Given the description of an element on the screen output the (x, y) to click on. 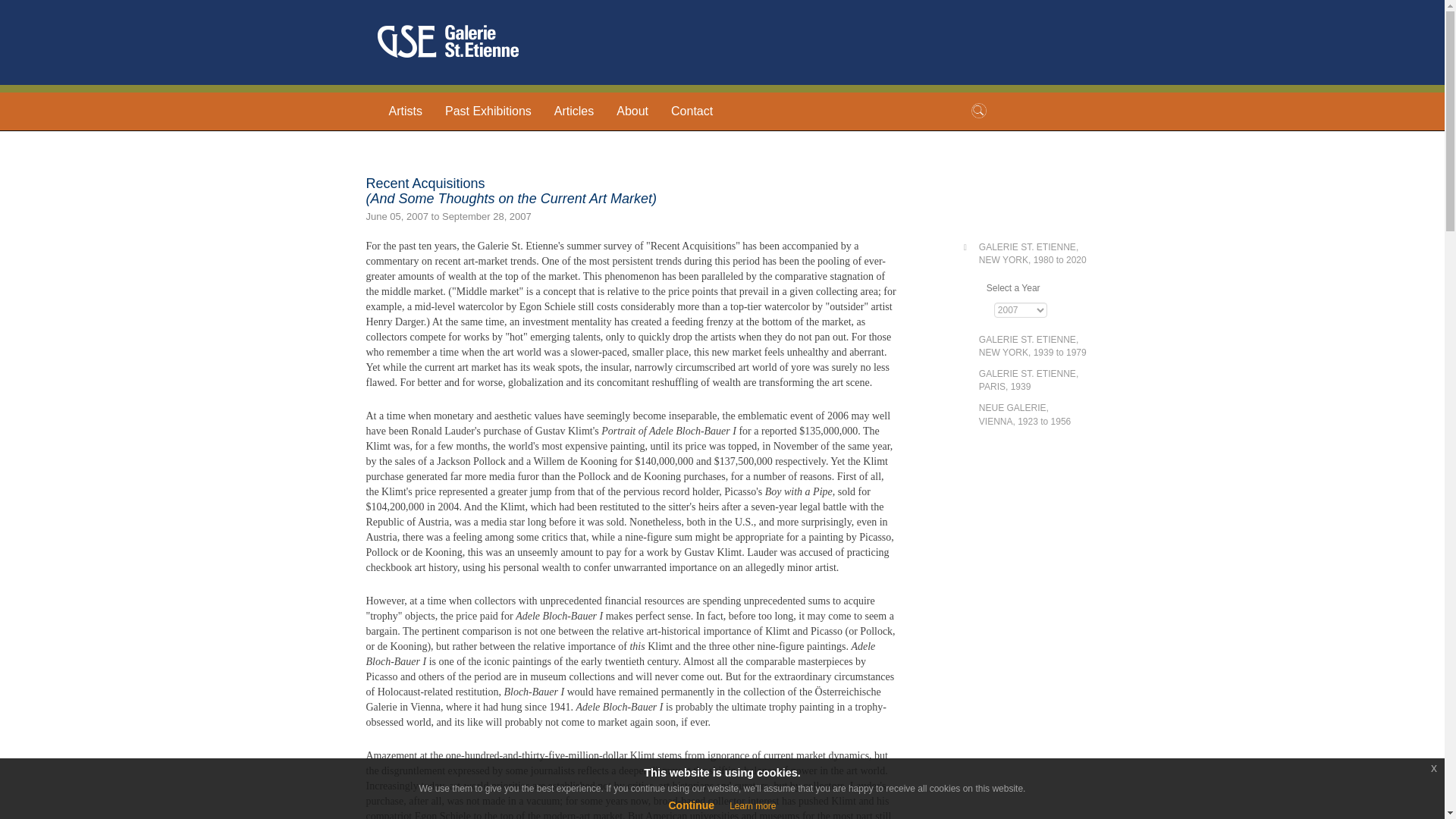
Artists (405, 111)
About (632, 111)
Articles (1032, 345)
Contact (574, 111)
selectyear (1028, 380)
Past Exhibitions (691, 111)
